Given the description of an element on the screen output the (x, y) to click on. 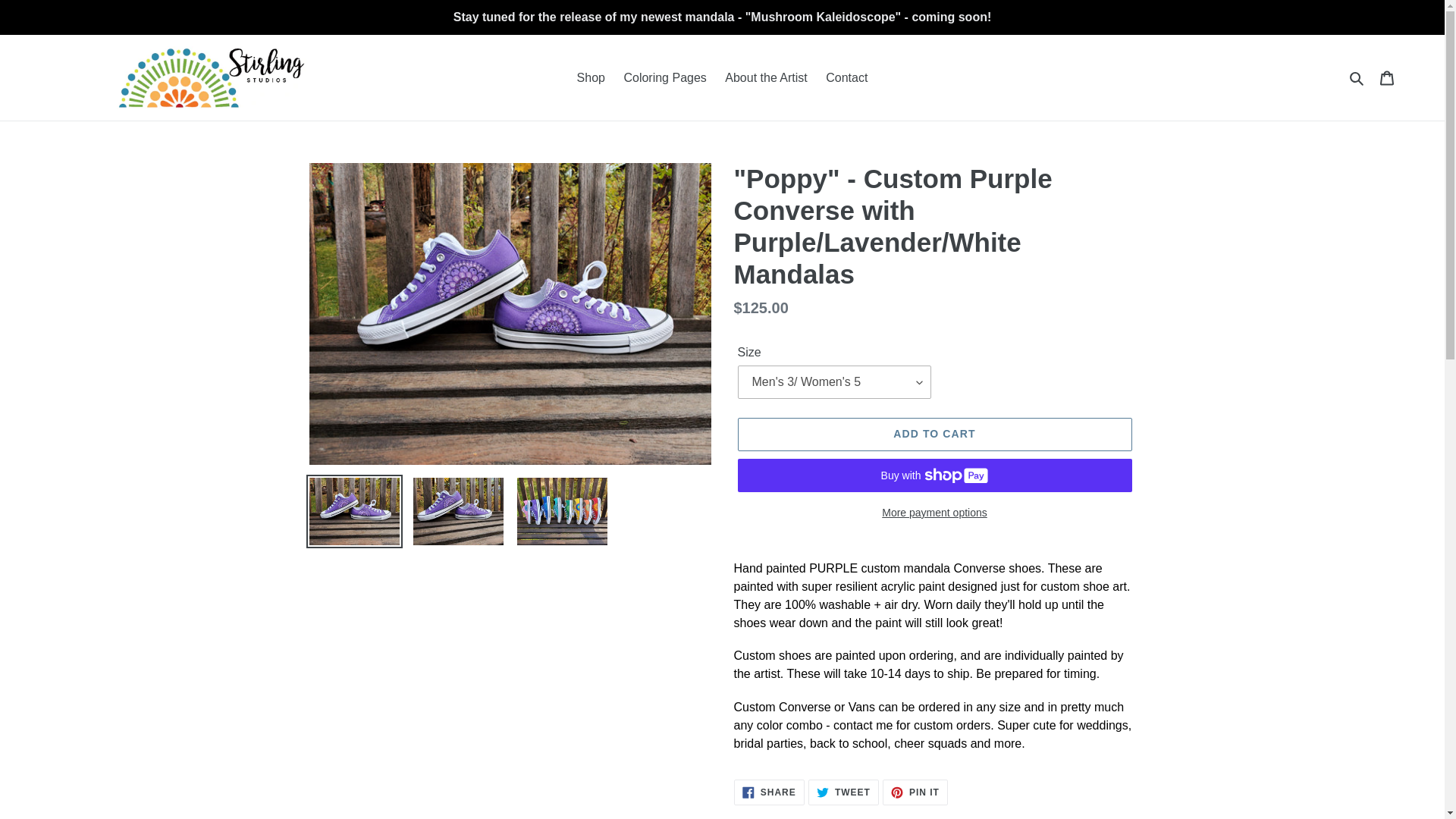
More payment options (933, 512)
Coloring Pages (664, 77)
Cart (1387, 77)
Shop (590, 77)
ADD TO CART (933, 434)
About the Artist (766, 77)
Search (1357, 77)
Contact (914, 792)
